Given the description of an element on the screen output the (x, y) to click on. 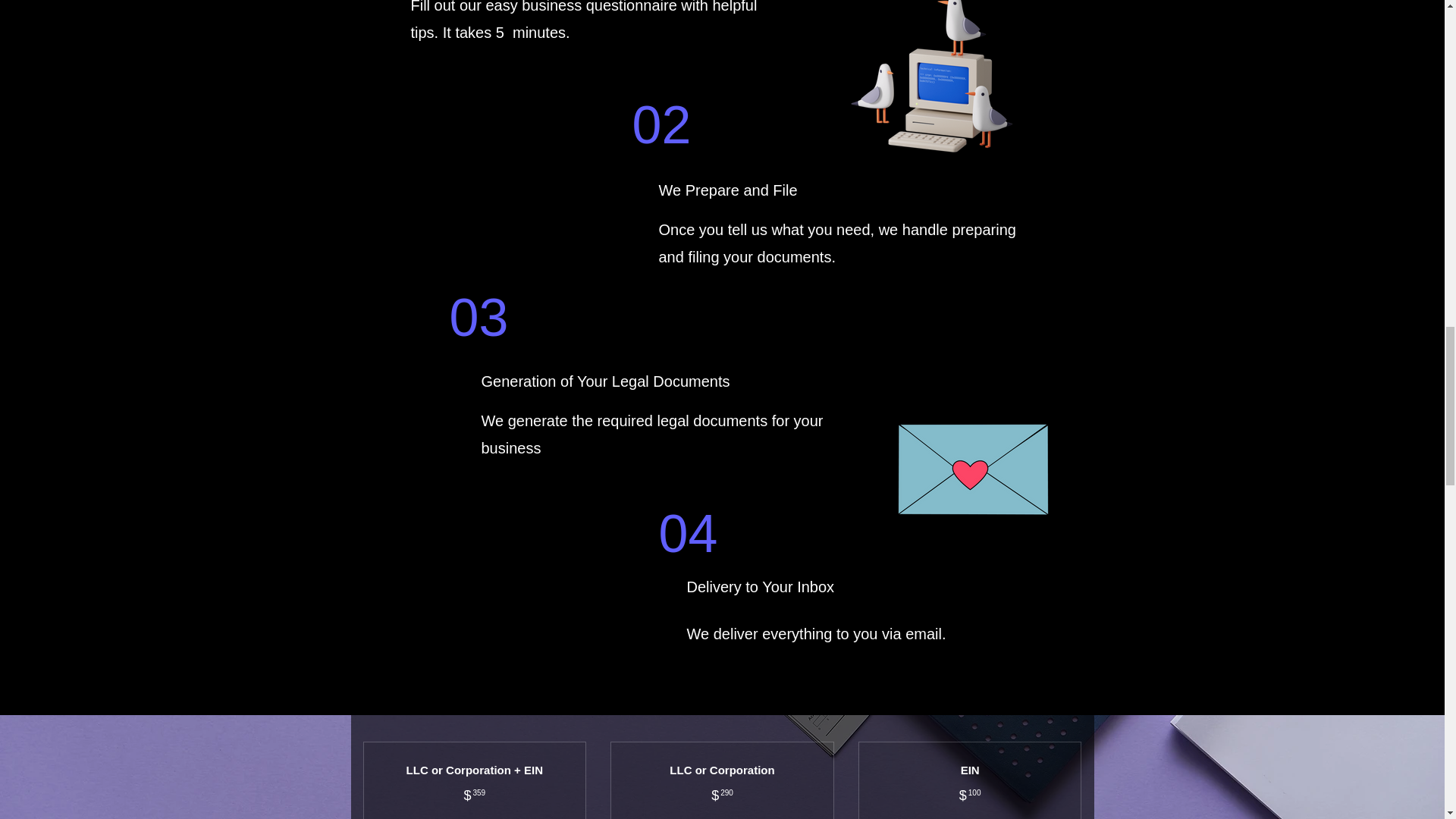
We Prepare and File (727, 190)
